Given the description of an element on the screen output the (x, y) to click on. 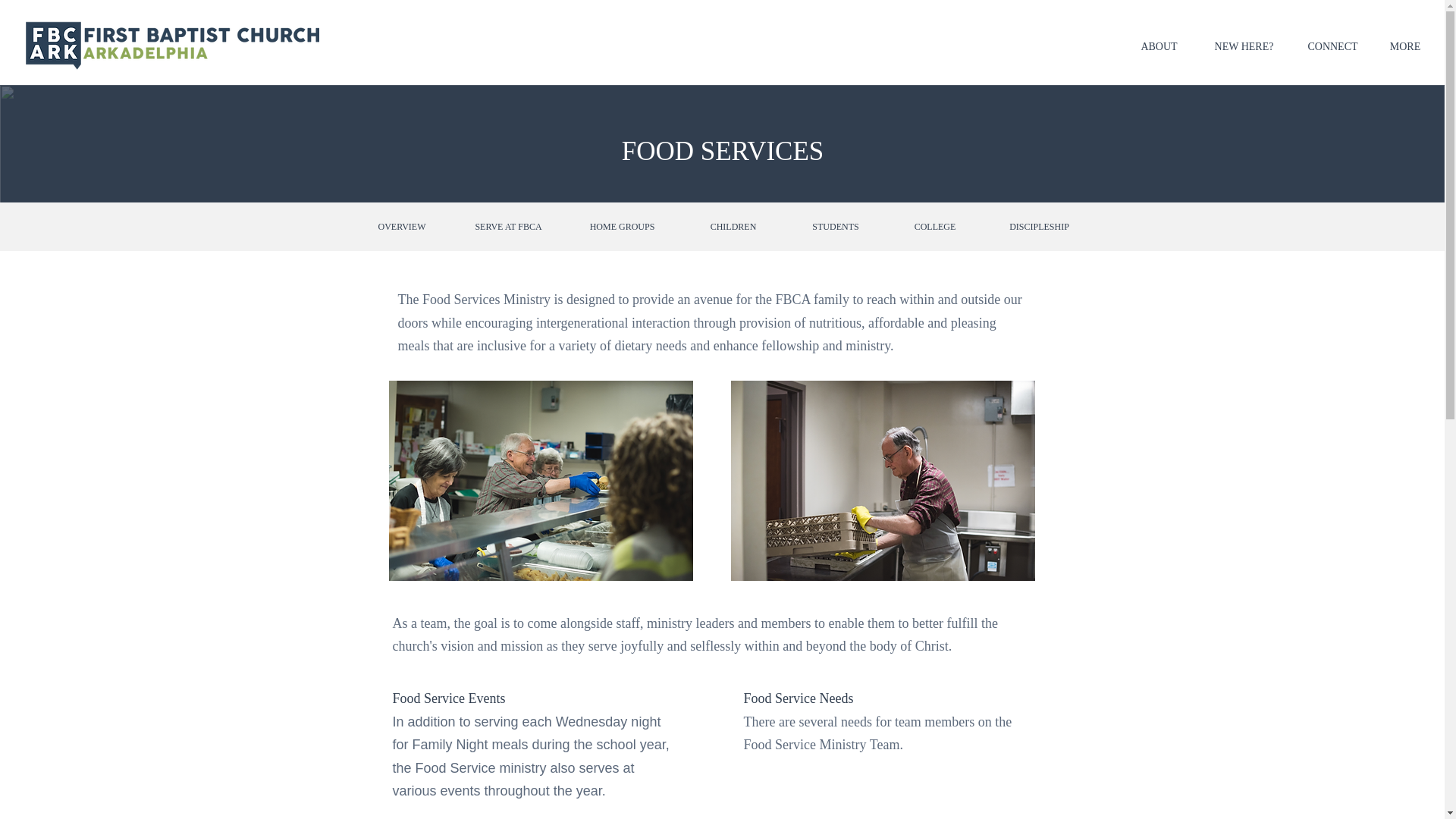
ABOUT (1158, 46)
DISCIPLESHIP (1038, 226)
CONNECT (1332, 46)
MORE (1404, 46)
CHILDREN (733, 226)
COLLEGE (935, 226)
SERVE AT FBCA (508, 226)
STUDENTS (835, 226)
OVERVIEW (401, 226)
HOME GROUPS (622, 226)
NEW HERE? (1244, 46)
